Given the description of an element on the screen output the (x, y) to click on. 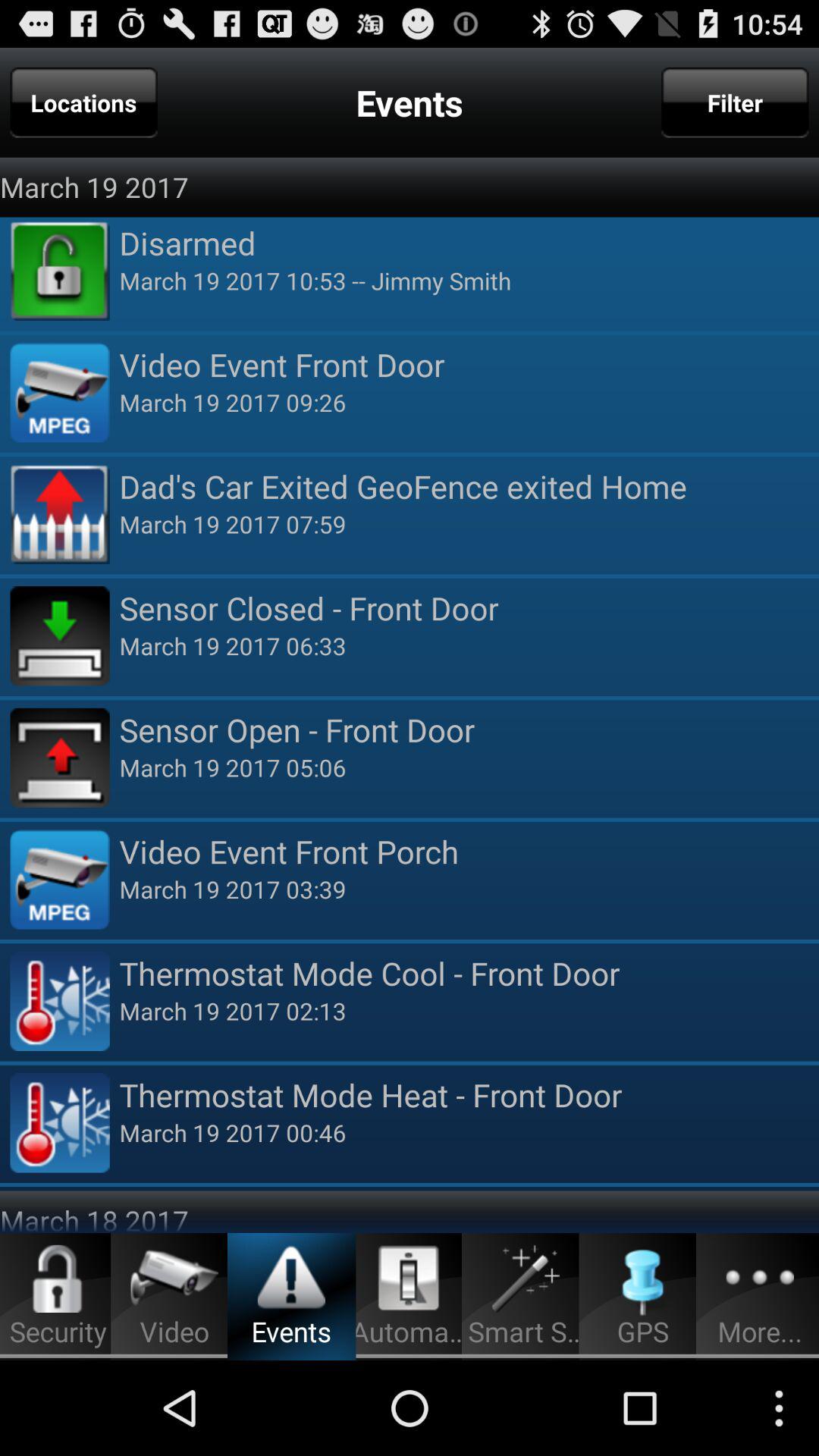
select the locations item (83, 102)
